Given the description of an element on the screen output the (x, y) to click on. 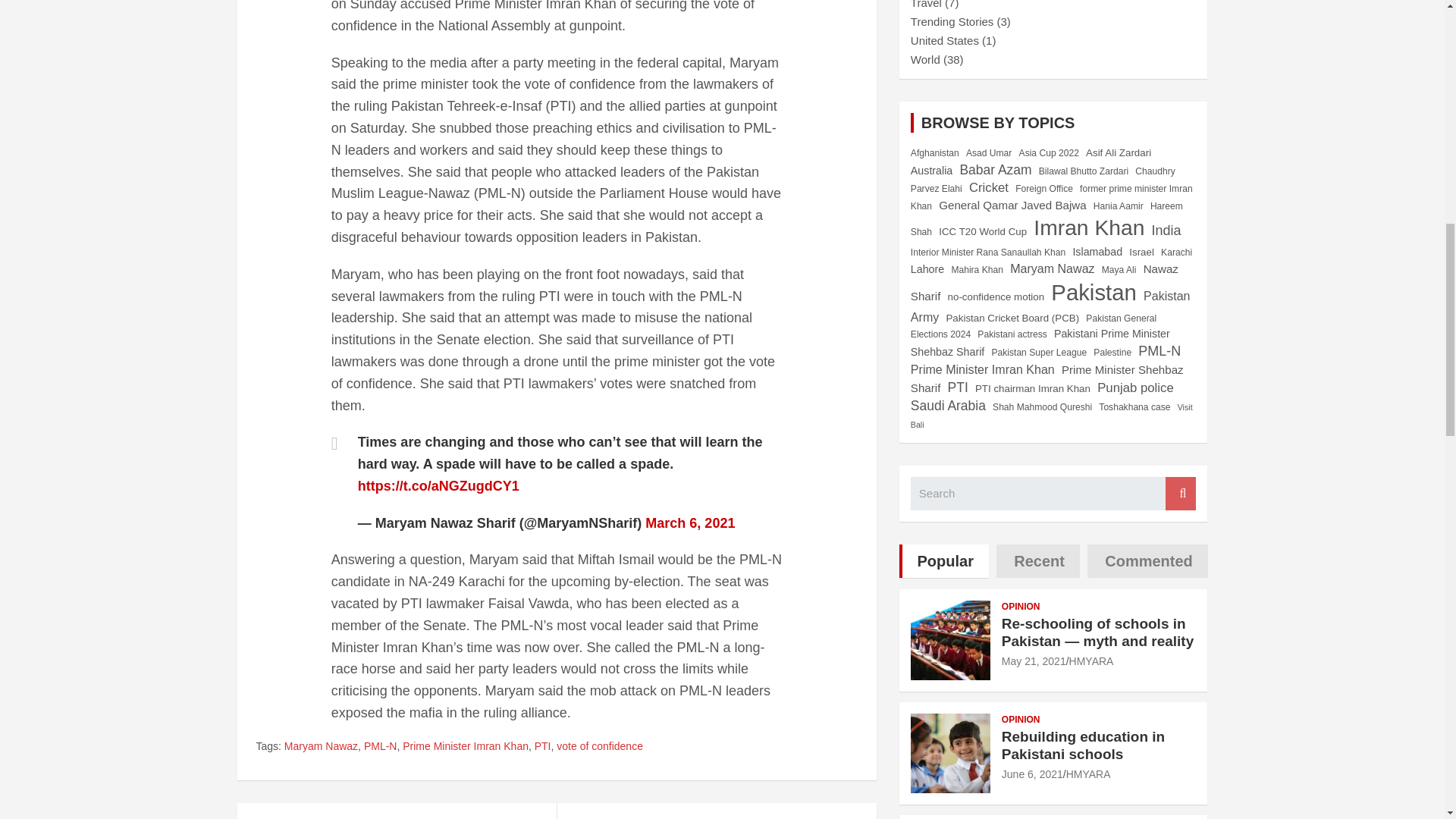
Rebuilding education in Pakistani schools (1031, 774)
